Given the description of an element on the screen output the (x, y) to click on. 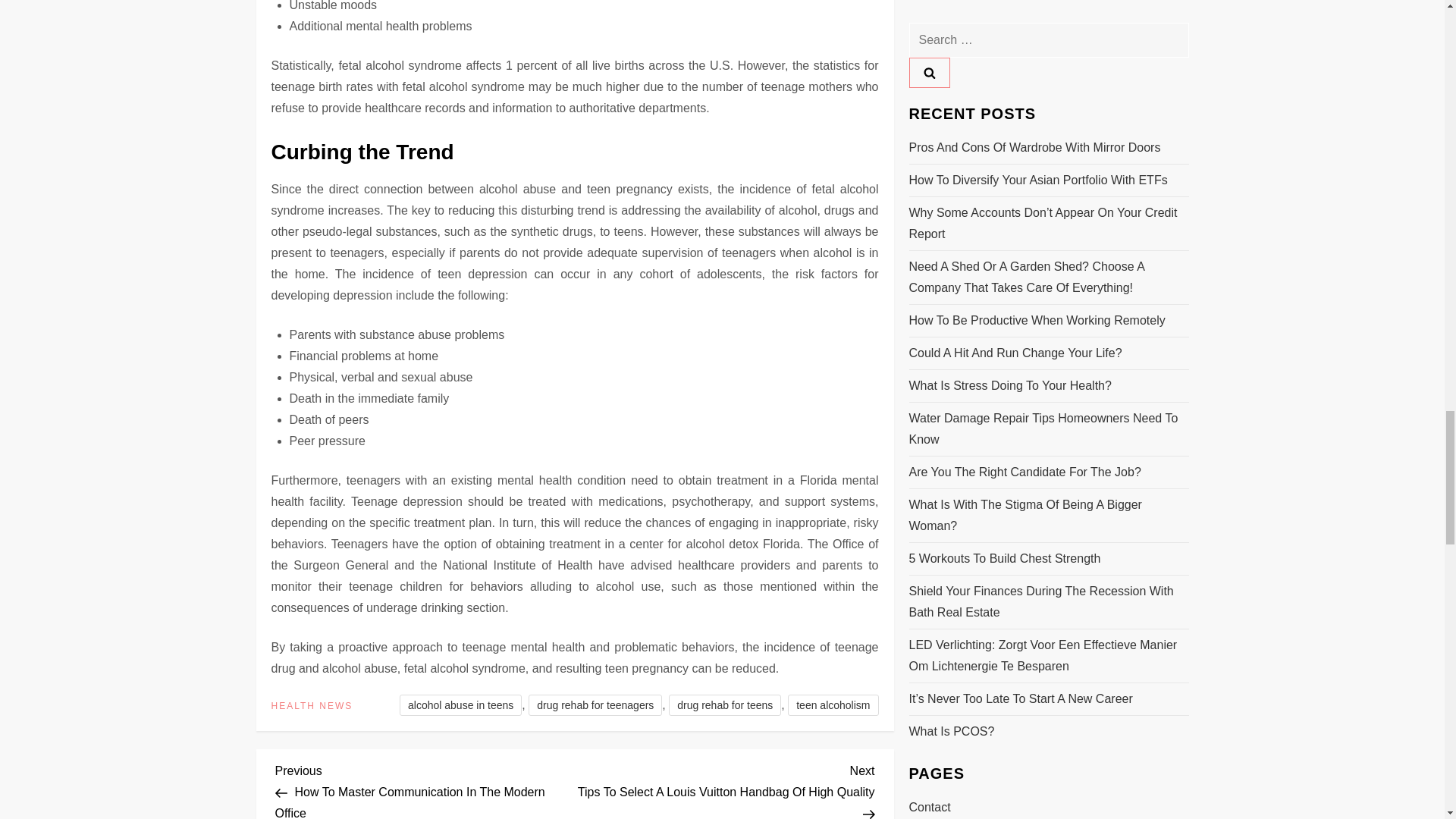
drug rehab for teens (724, 704)
HEALTH NEWS (311, 706)
teen alcoholism (832, 704)
drug rehab for teenagers (595, 704)
alcohol abuse in teens (459, 704)
